Given the description of an element on the screen output the (x, y) to click on. 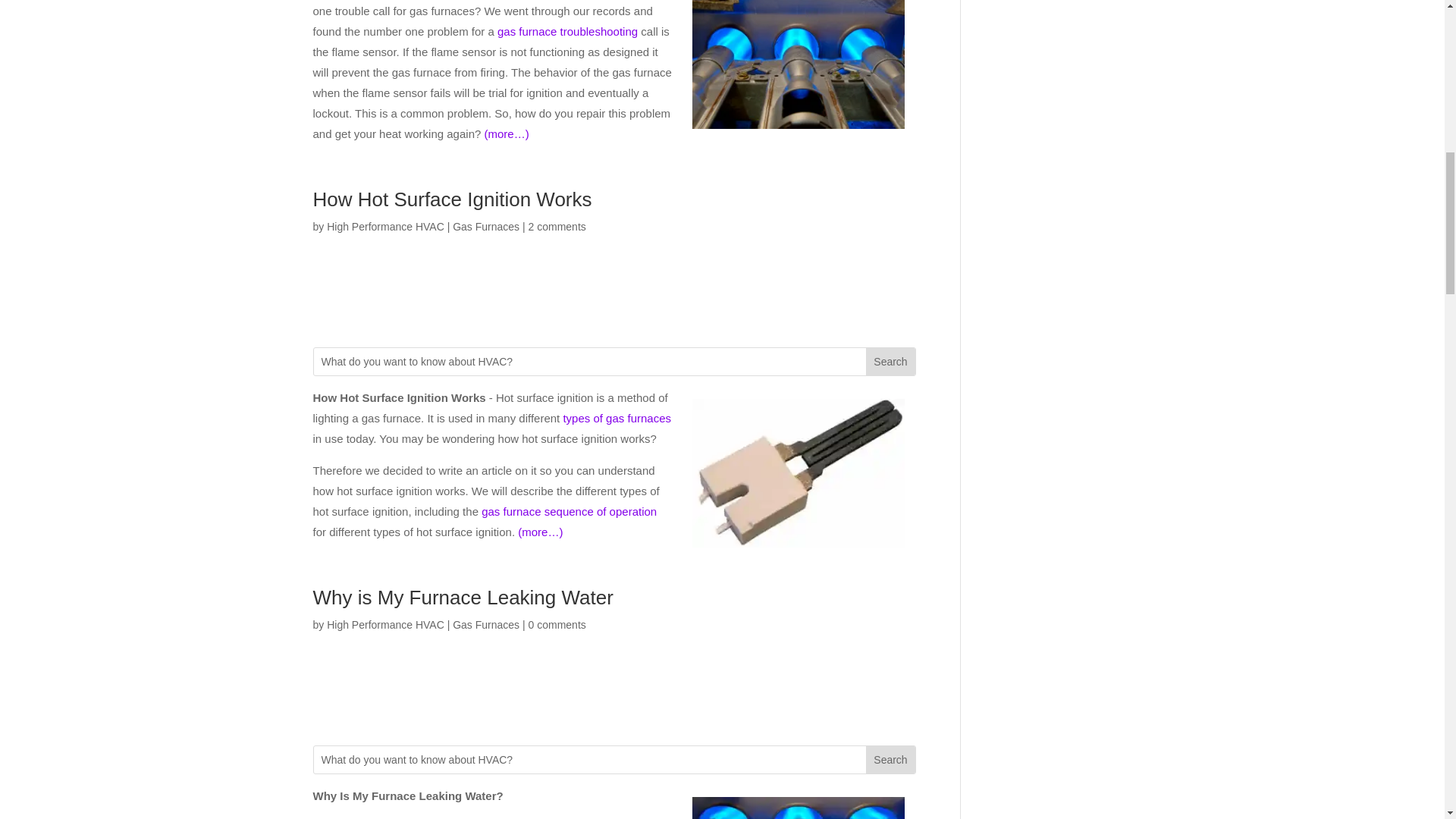
Search (890, 360)
Search (890, 759)
Search (890, 759)
Posts by High Performance HVAC (385, 624)
Posts by High Performance HVAC (385, 225)
Search (890, 360)
